Given the description of an element on the screen output the (x, y) to click on. 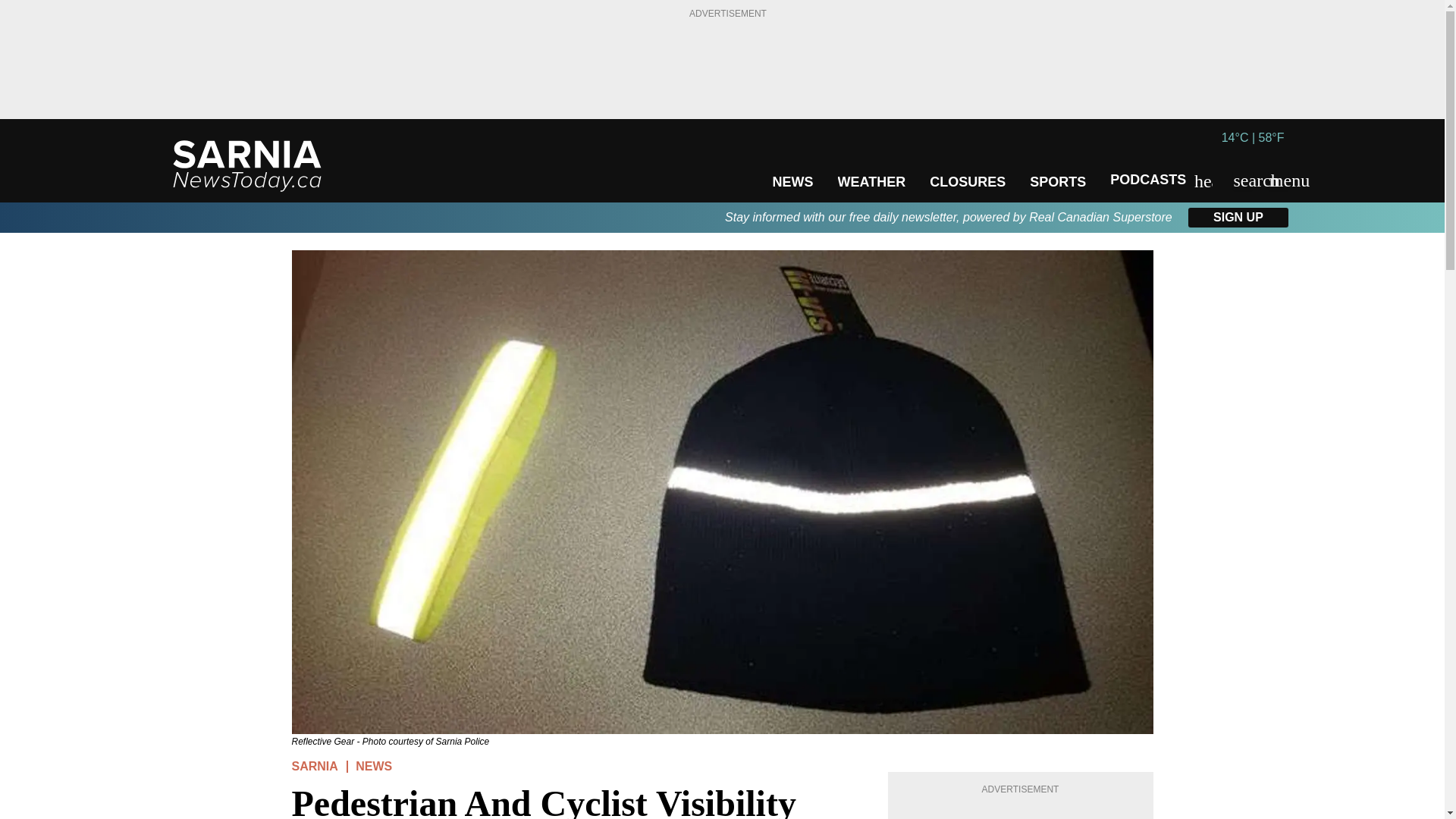
menu (1278, 180)
3rd party ad content (727, 60)
CLOSURES (968, 182)
NEWS (791, 182)
WEATHER (871, 182)
SPORTS (1057, 182)
SIGN UP (1238, 217)
SARNIA (314, 766)
3rd party ad content (1020, 810)
NEWS (373, 766)
search (1242, 180)
